Given the description of an element on the screen output the (x, y) to click on. 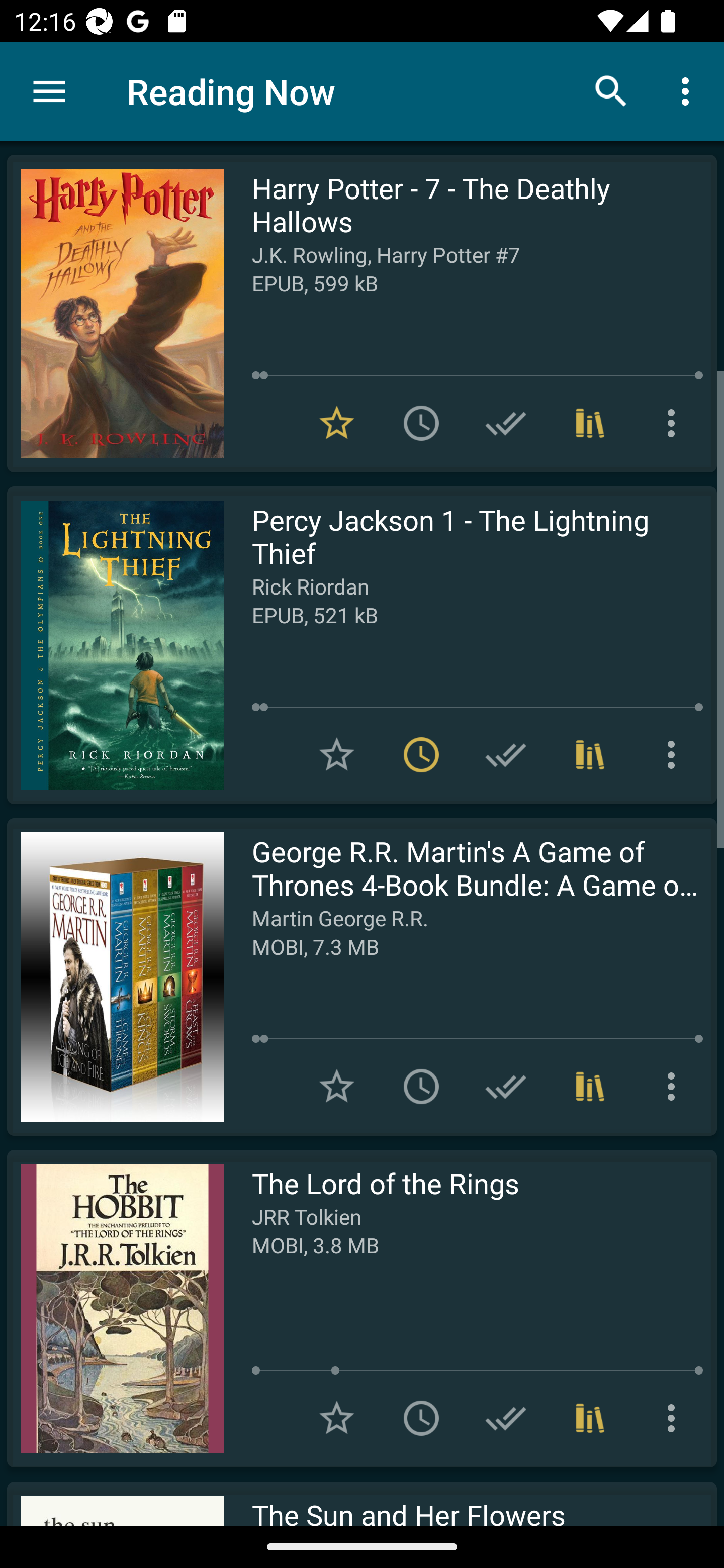
Menu (49, 91)
Search books & documents (611, 90)
More options (688, 90)
Read Harry Potter - 7 - The Deathly Hallows (115, 313)
Remove from Favorites (336, 423)
Add to To read (421, 423)
Add to Have read (505, 423)
Collections (1) (590, 423)
More options (674, 423)
Read Percy Jackson 1 - The Lightning Thief (115, 645)
Add to Favorites (336, 753)
Remove from To read (421, 753)
Add to Have read (505, 753)
Collections (1) (590, 753)
More options (674, 753)
Add to Favorites (336, 1086)
Add to To read (421, 1086)
Add to Have read (505, 1086)
Collections (1) (590, 1086)
More options (674, 1086)
Read The Lord of the Rings (115, 1308)
Add to Favorites (336, 1417)
Add to To read (421, 1417)
Add to Have read (505, 1417)
Collections (1) (590, 1417)
More options (674, 1417)
